Given the description of an element on the screen output the (x, y) to click on. 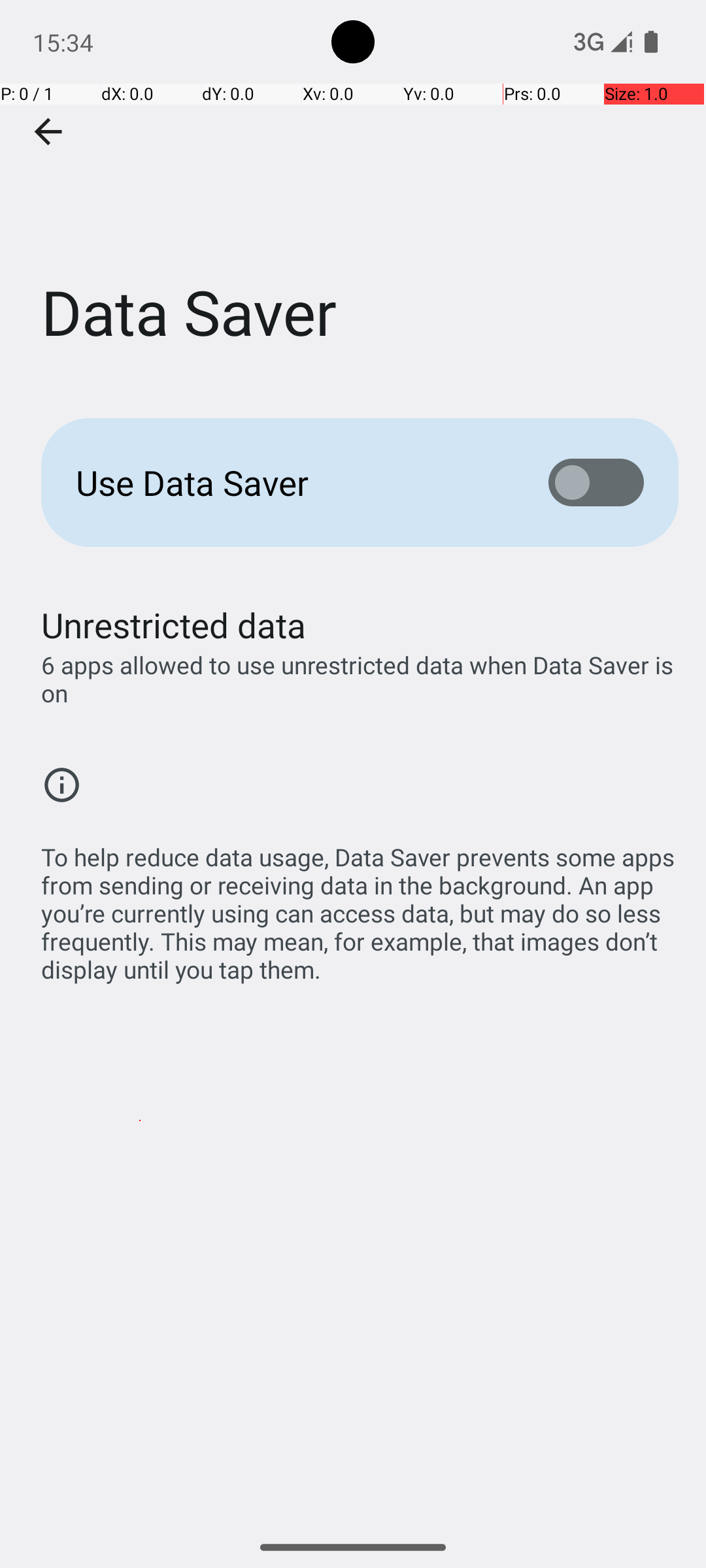
Data Saver Element type: android.widget.FrameLayout (353, 195)
Use Data Saver Element type: android.widget.TextView (291, 482)
Unrestricted data Element type: android.widget.TextView (173, 624)
6 apps allowed to use unrestricted data when Data Saver is on Element type: android.widget.TextView (359, 678)
To help reduce data usage, Data Saver prevents some apps from sending or receiving data in the background. An app you’re currently using can access data, but may do so less frequently. This may mean, for example, that images don’t display until you tap them. Element type: android.widget.TextView (359, 905)
